Given the description of an element on the screen output the (x, y) to click on. 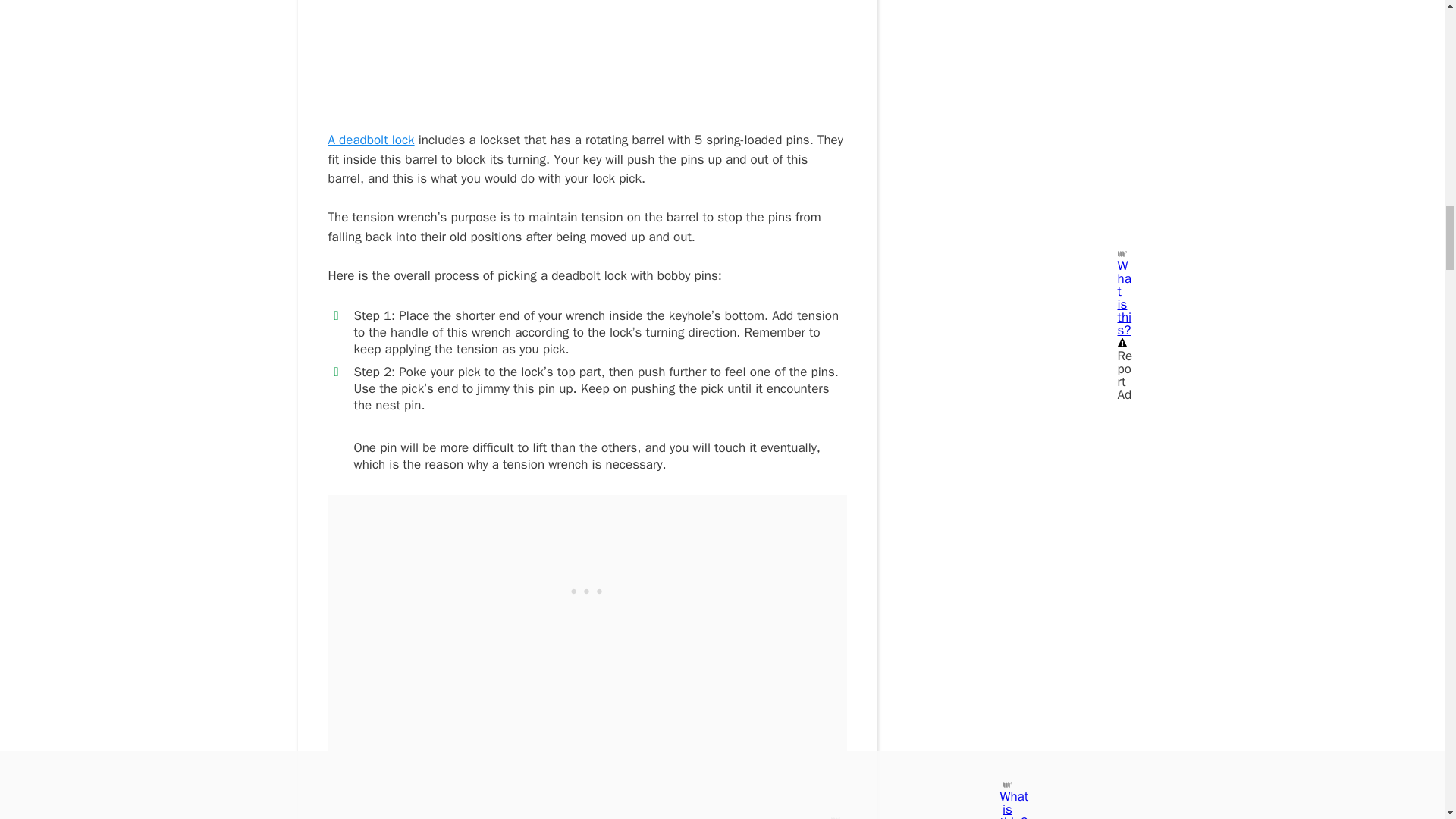
3rd party ad content (586, 589)
